Given the description of an element on the screen output the (x, y) to click on. 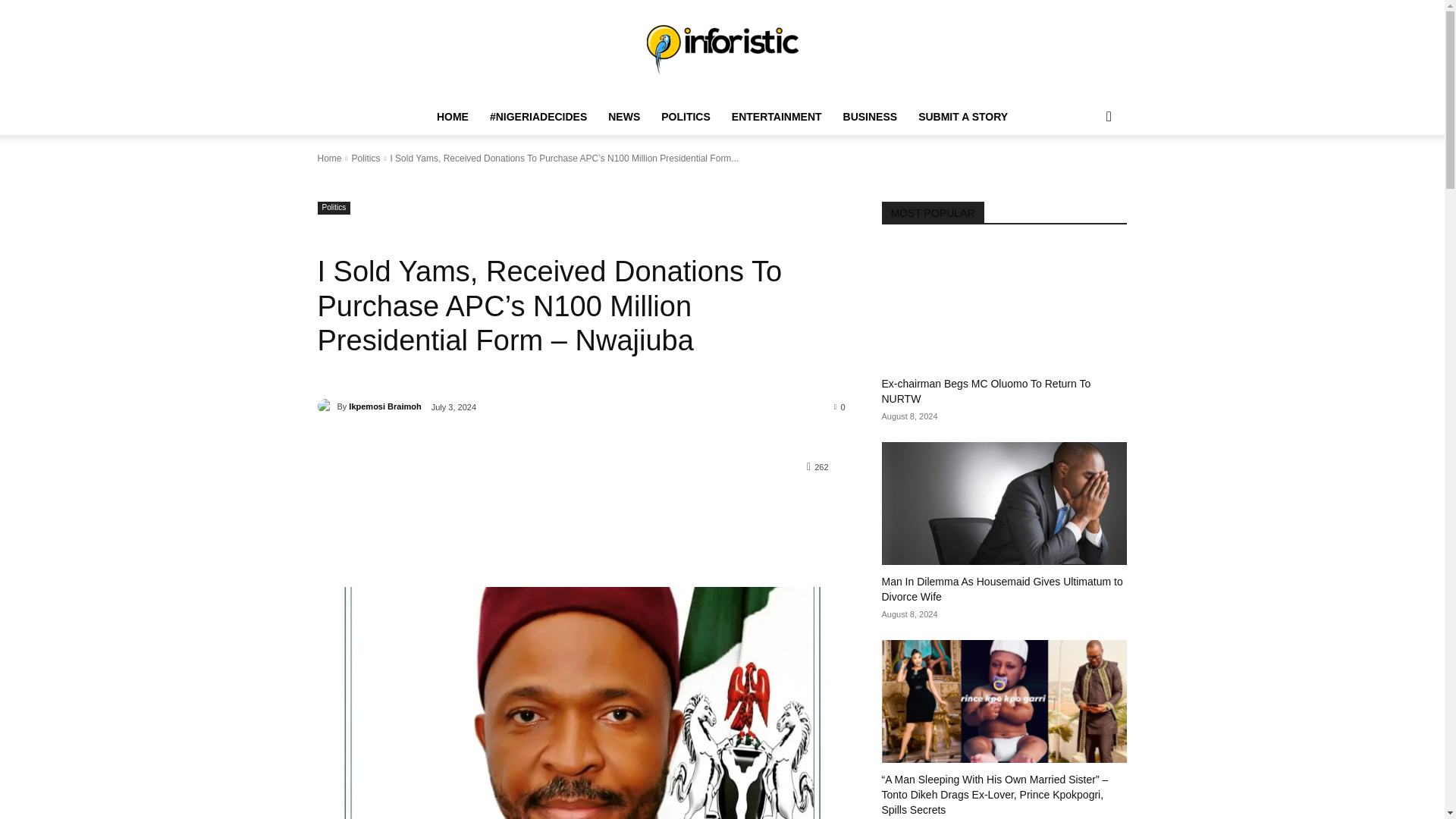
NEWS (623, 116)
BUSINESS (870, 116)
View all posts in Politics (365, 158)
Ikpemosi Braimoh (326, 406)
Search (1085, 177)
SUBMIT A STORY (962, 116)
Ikpemosi Braimoh (384, 405)
ENTERTAINMENT (776, 116)
0 (839, 406)
HOME (452, 116)
Home (328, 158)
Politics (333, 207)
Politics (365, 158)
POLITICS (685, 116)
